Given the description of an element on the screen output the (x, y) to click on. 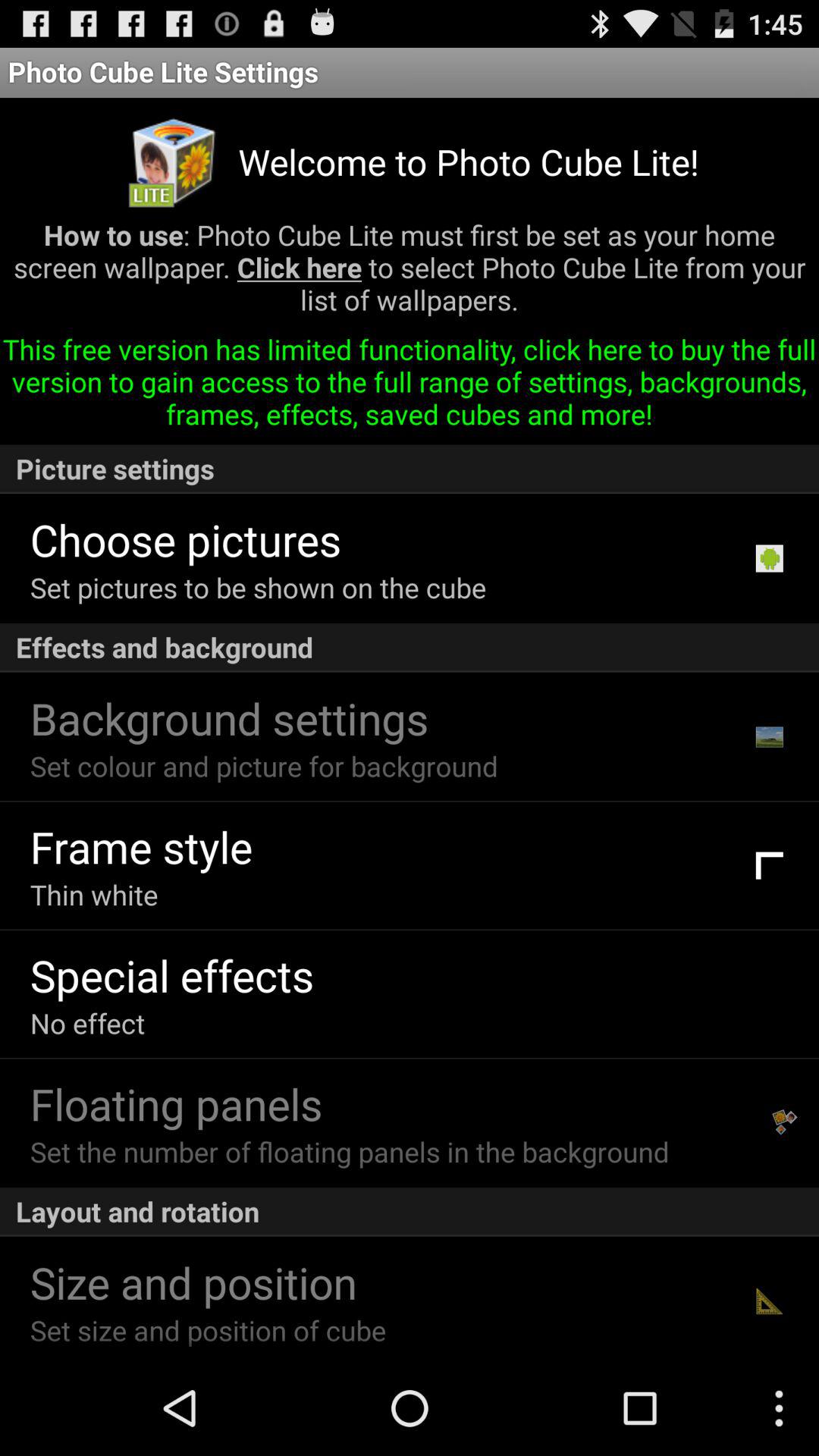
select item above special effects icon (94, 894)
